Given the description of an element on the screen output the (x, y) to click on. 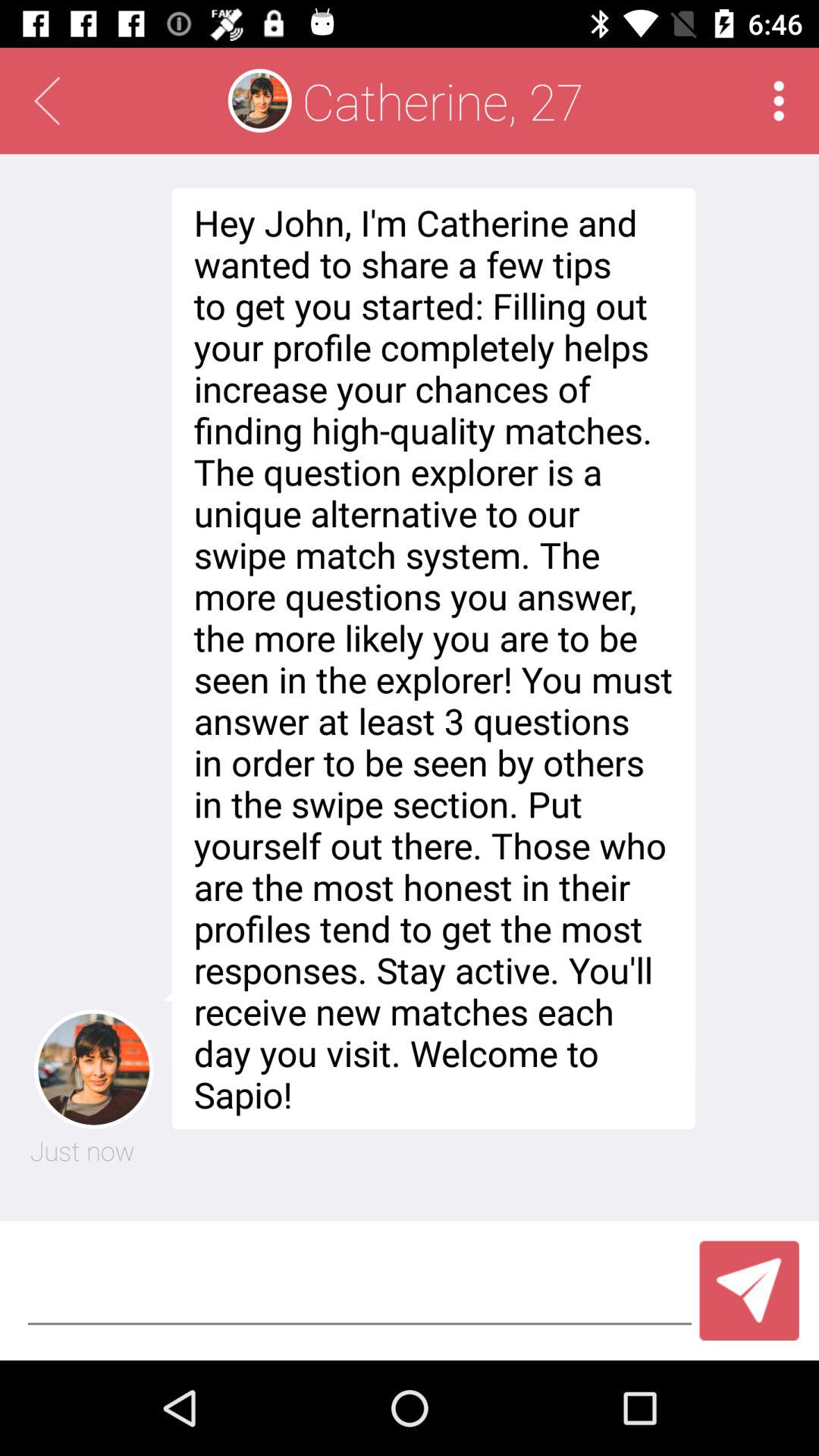
turn on icon below the catherine, 27 icon (429, 658)
